Given the description of an element on the screen output the (x, y) to click on. 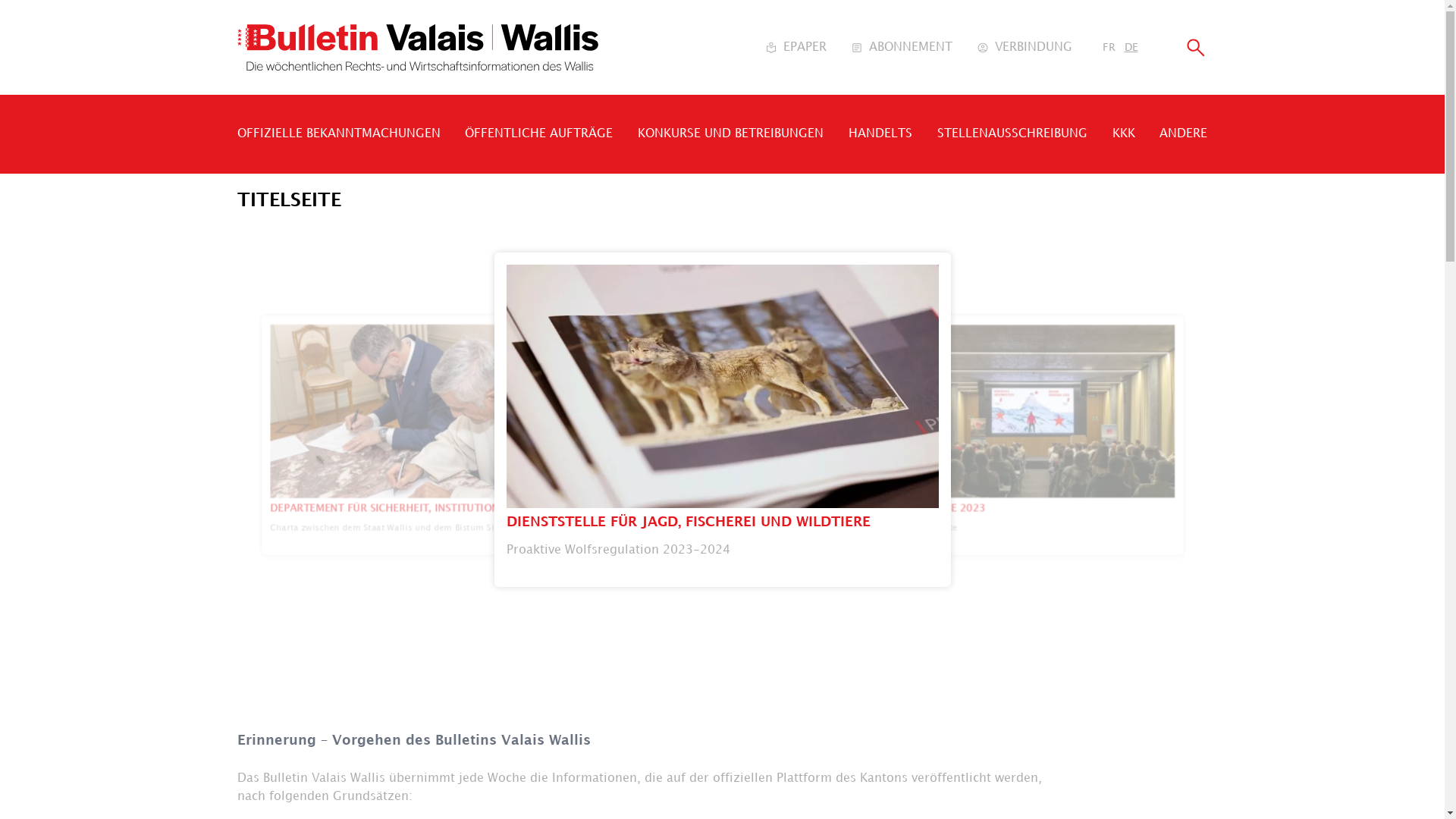
HANDELTS Element type: text (880, 133)
FR Element type: text (1108, 47)
OFFIZIELLE BEKANNTMACHUNGEN Element type: text (337, 133)
EPAPER Element type: text (794, 47)
VERBINDUNG Element type: text (1024, 47)
ABONNEMENT Element type: text (901, 47)
KONKURSE UND BETREIBUNGEN Element type: text (730, 133)
STELLENAUSSCHREIBUNG Element type: text (1012, 133)
KKK Element type: text (1123, 133)
ANDERE Element type: text (1183, 133)
DE Element type: text (1130, 47)
